Given the description of an element on the screen output the (x, y) to click on. 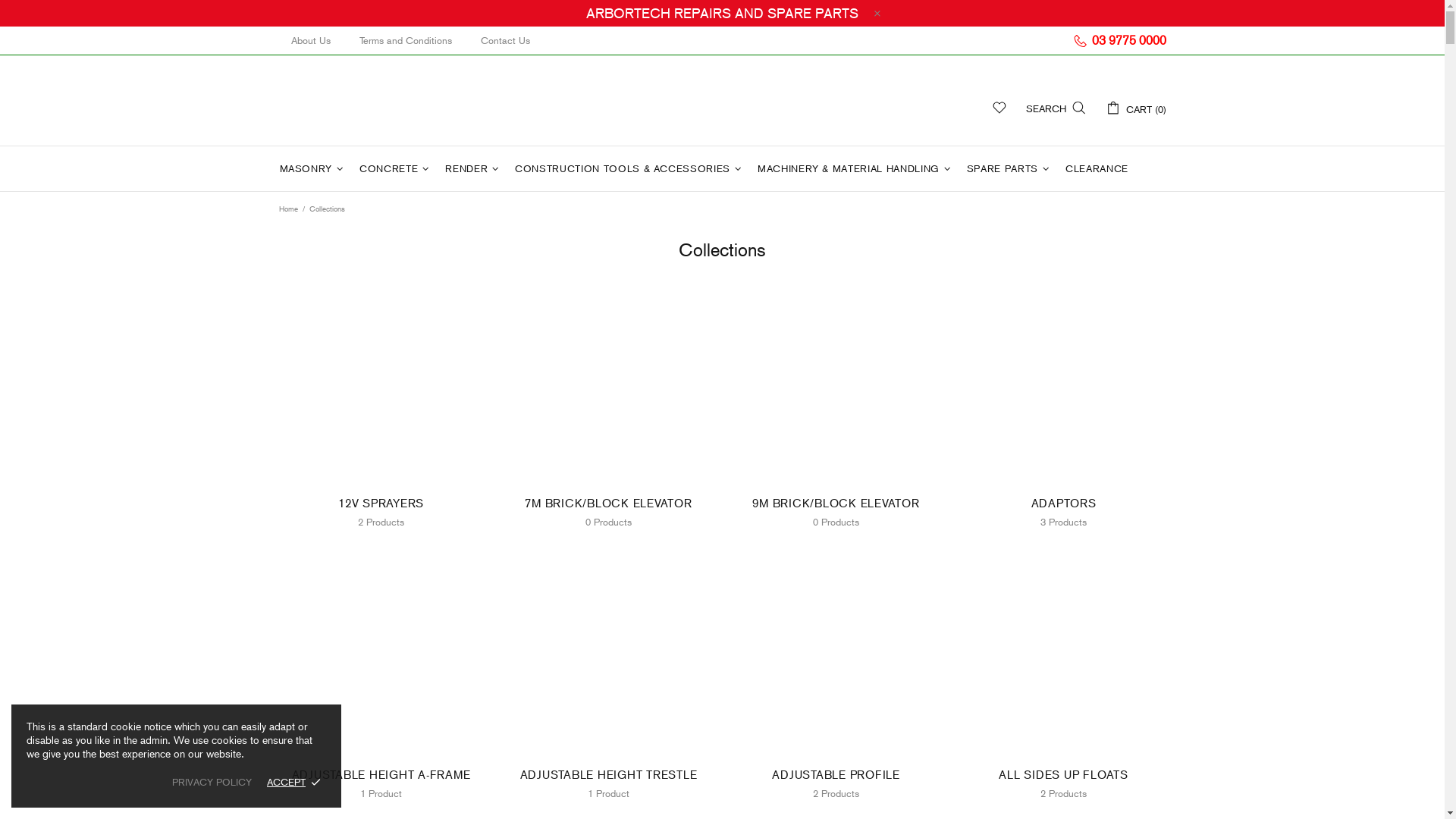
2 Products Element type: text (1063, 790)
ALL SIDES UP FLOATS Element type: text (1063, 775)
RENDER Element type: text (473, 168)
MASONRY Element type: text (313, 168)
CONCRETE Element type: text (396, 168)
SPARE PARTS Element type: text (1009, 168)
12V SPRAYERS Element type: text (381, 503)
7M BRICK/BLOCK ELEVATOR Element type: text (608, 503)
ADJUSTABLE HEIGHT A-FRAME Element type: text (381, 775)
1 Product Element type: text (381, 790)
About Us Element type: text (310, 40)
CONSTRUCTION TOOLS & ACCESSORIES Element type: text (629, 168)
CART (0) Element type: text (1135, 107)
Terms and Conditions Element type: text (405, 40)
ADJUSTABLE PROFILE Element type: text (836, 775)
ADJUSTABLE HEIGHT TRESTLE Element type: text (608, 775)
2 Products Element type: text (836, 790)
PRIVACY POLICY Element type: text (211, 781)
1 Product Element type: text (608, 790)
Langys Element type: text (373, 100)
SEARCH Element type: text (1055, 108)
MACHINERY & MATERIAL HANDLING Element type: text (855, 168)
3 Products Element type: text (1063, 519)
Contact Us Element type: text (505, 40)
ADAPTORS Element type: text (1063, 503)
Home Element type: text (287, 209)
2 Products Element type: text (381, 519)
9M BRICK/BLOCK ELEVATOR Element type: text (836, 503)
0 Products Element type: text (836, 519)
CLEARANCE Element type: text (1096, 168)
0 Products Element type: text (608, 519)
